Given the description of an element on the screen output the (x, y) to click on. 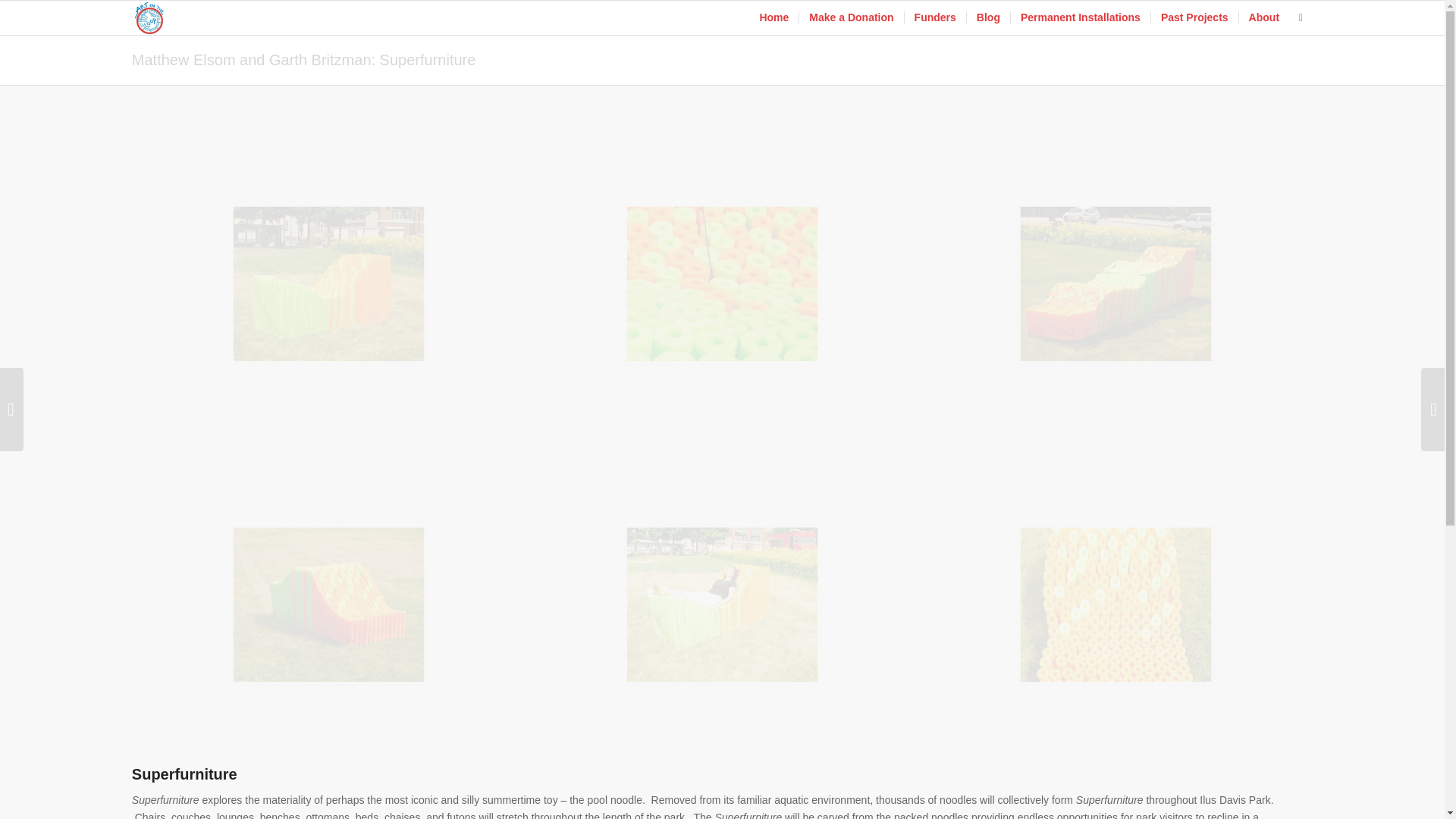
Home (773, 17)
Make a Donation (849, 17)
Past Projects (1194, 17)
Funders (935, 17)
Blog (988, 17)
Permanent Installations (1080, 17)
Matthew Elsom and Garth Britzman: Superfurniture (304, 59)
About (1263, 17)
